Given the description of an element on the screen output the (x, y) to click on. 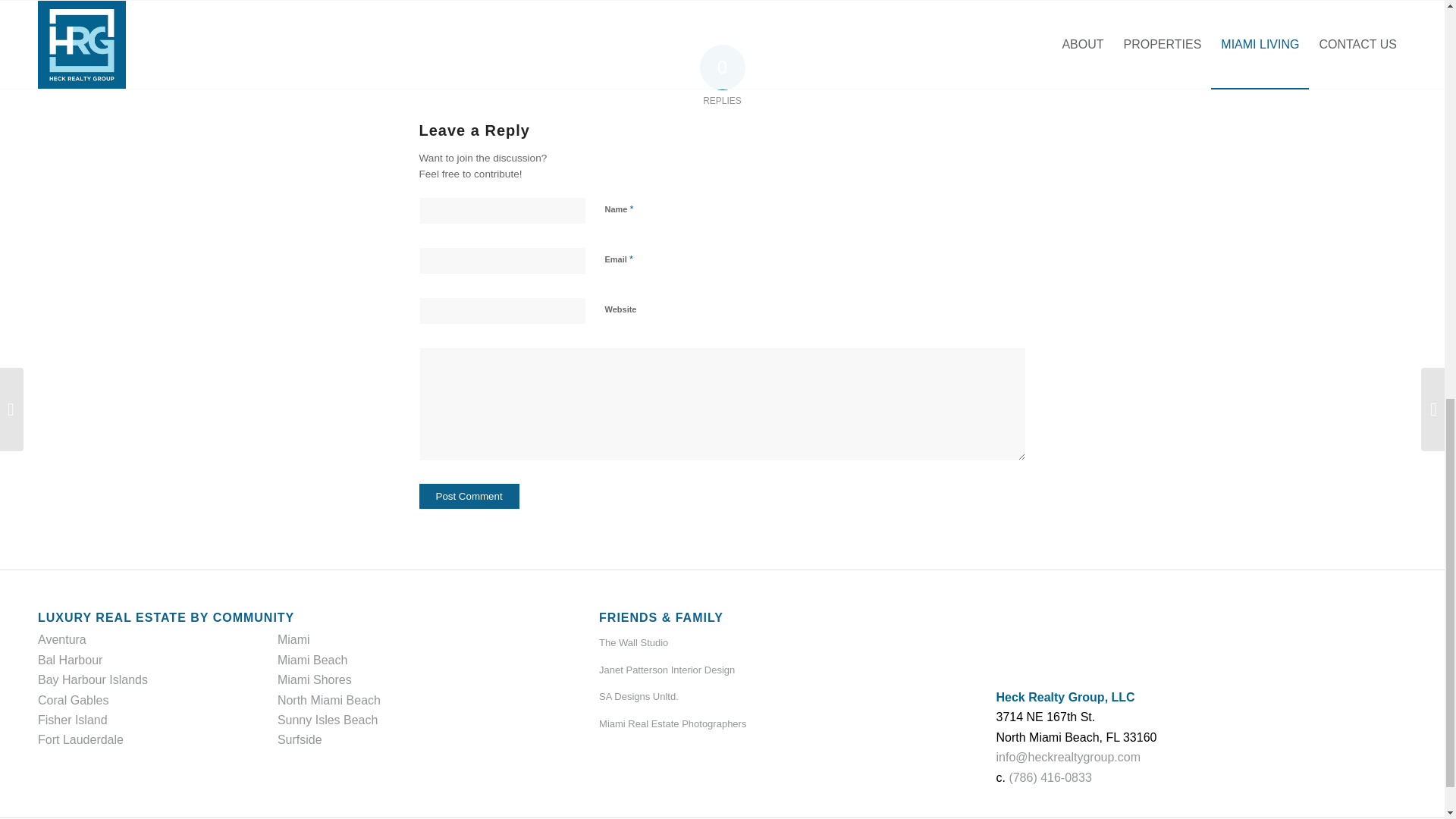
Bal Harbour (69, 659)
Bay Harbour Islands (92, 679)
Aventura (61, 639)
Fisher Island (72, 719)
Fort Lauderdale (80, 739)
Coral Gables (72, 699)
Miami Beach (312, 659)
Post Comment (468, 496)
Sunny Isles Beach (328, 719)
North Miami Beach (329, 699)
